Given the description of an element on the screen output the (x, y) to click on. 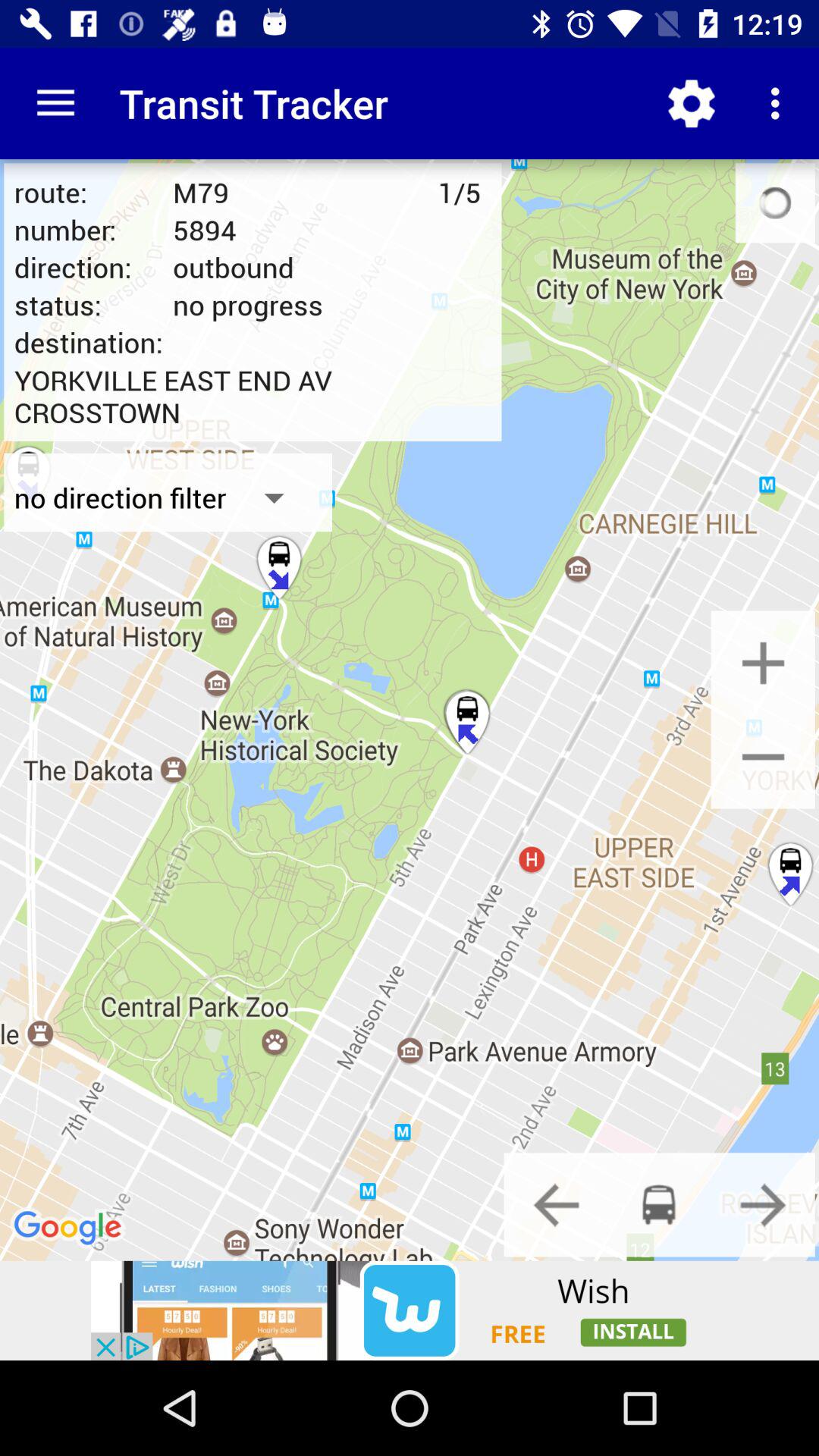
go to next arrow (762, 1204)
